Given the description of an element on the screen output the (x, y) to click on. 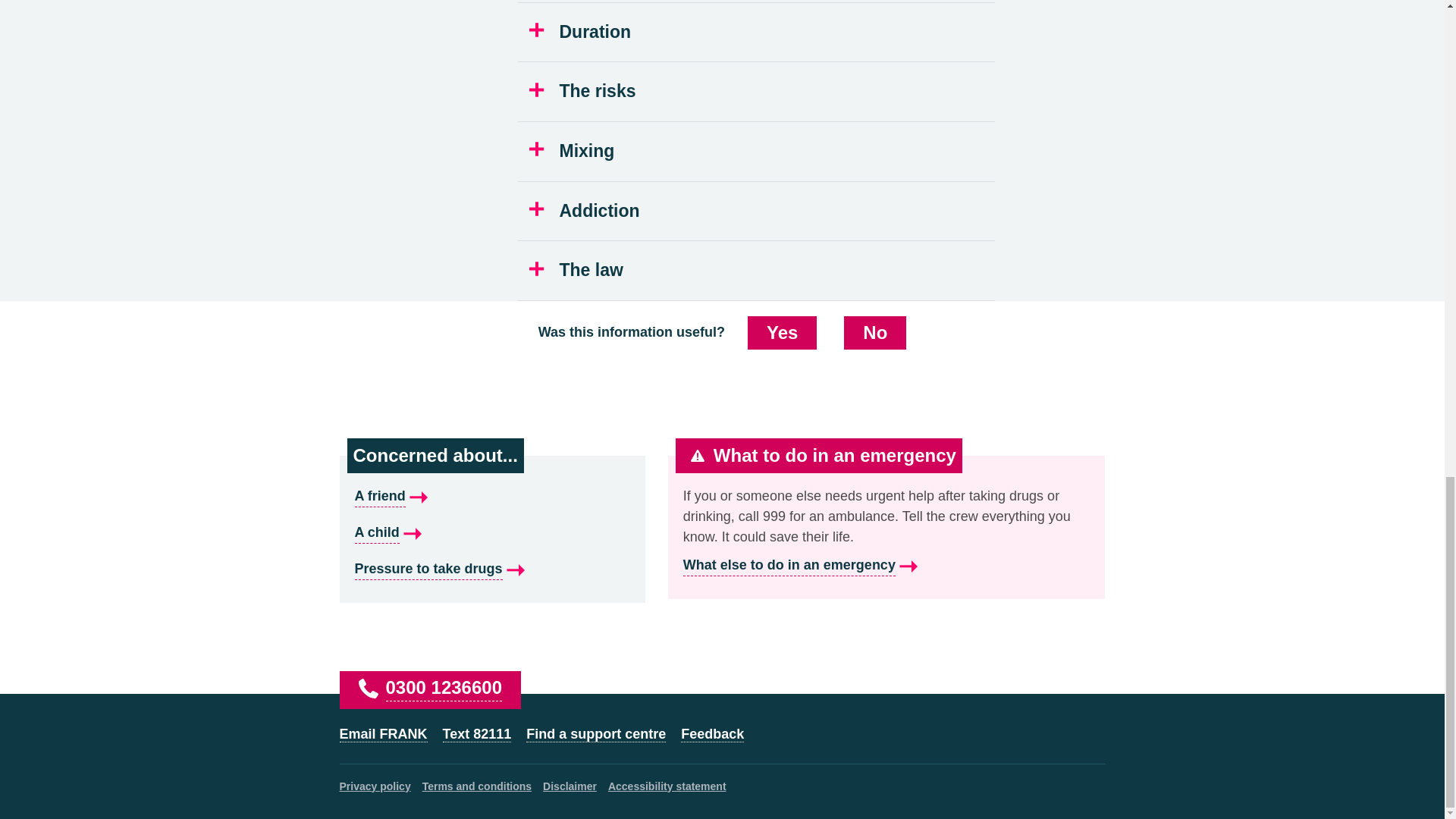
Mixing (756, 151)
The risks (756, 91)
Addiction (756, 210)
A friend (492, 496)
No (874, 332)
A child (492, 532)
The law (756, 270)
Yes (782, 332)
Duration (756, 32)
